Given the description of an element on the screen output the (x, y) to click on. 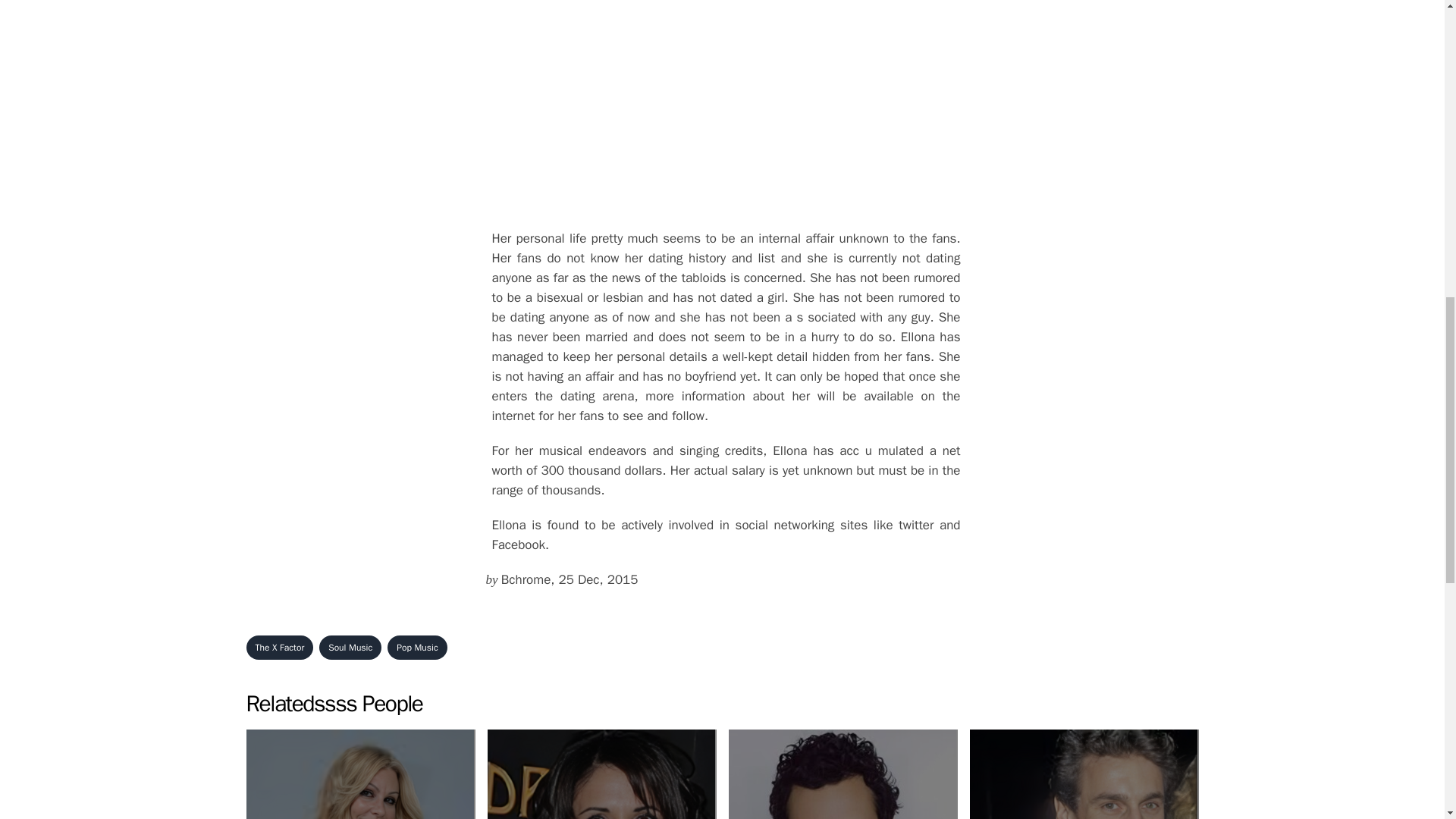
Soul Music (842, 774)
The X Factor (349, 647)
Pop Music (279, 647)
Advertisement (416, 647)
